Given the description of an element on the screen output the (x, y) to click on. 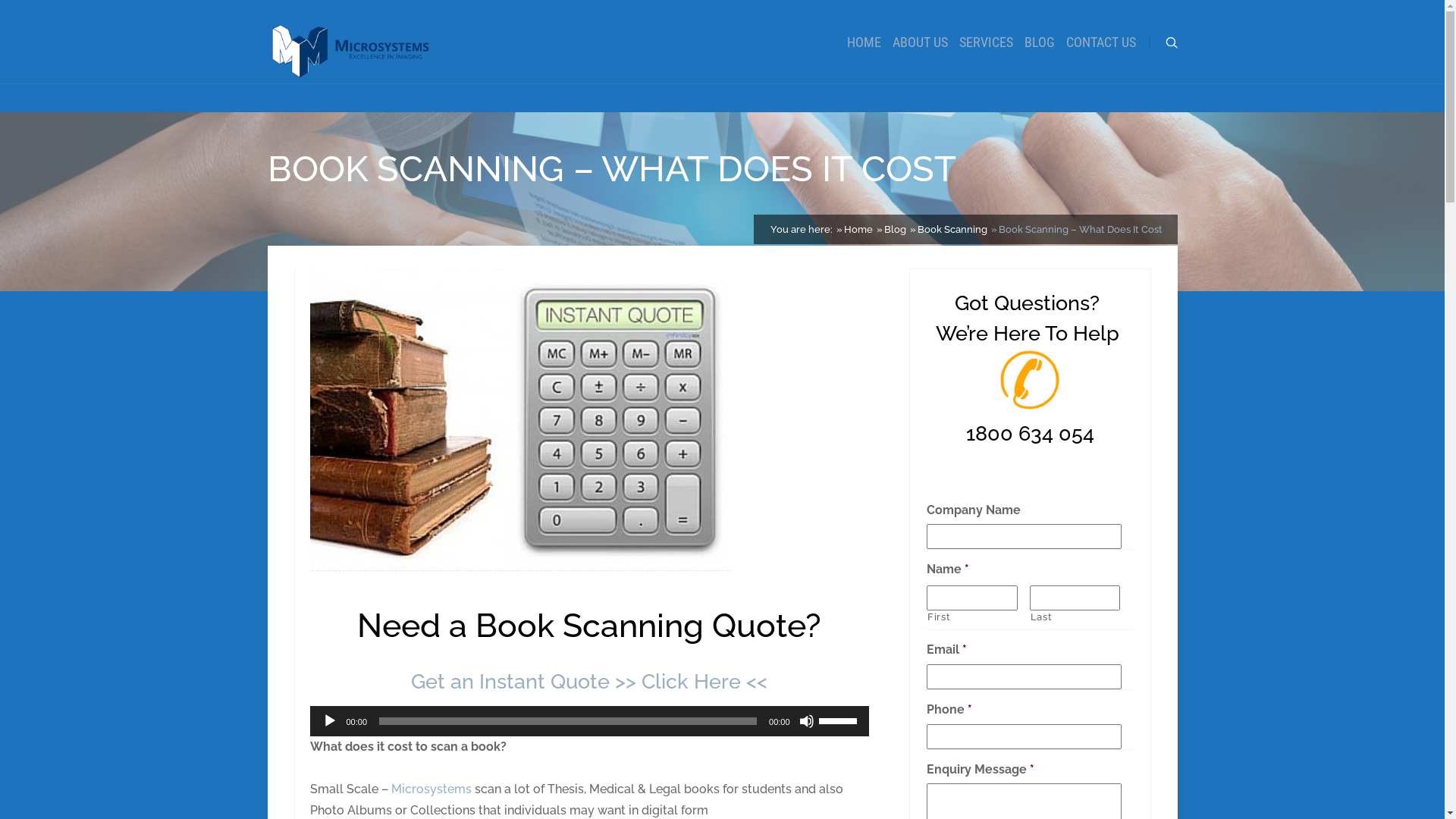
Book Scanning Cost Element type: hover (520, 421)
Use Up/Down Arrow keys to increase or decrease volume. Element type: text (840, 718)
Book Scanning Element type: text (952, 228)
HOME Element type: text (863, 42)
BLOG Element type: text (1038, 42)
CONTACT US Element type: text (1100, 42)
Mute Element type: hover (806, 720)
Get an Instant Quote >> Click Here << Element type: text (589, 681)
Microsystems Element type: text (431, 788)
Play Element type: hover (328, 720)
SERVICES Element type: text (985, 42)
ABOUT US Element type: text (919, 42)
Home Element type: text (857, 228)
Blog Element type: text (895, 228)
